Given the description of an element on the screen output the (x, y) to click on. 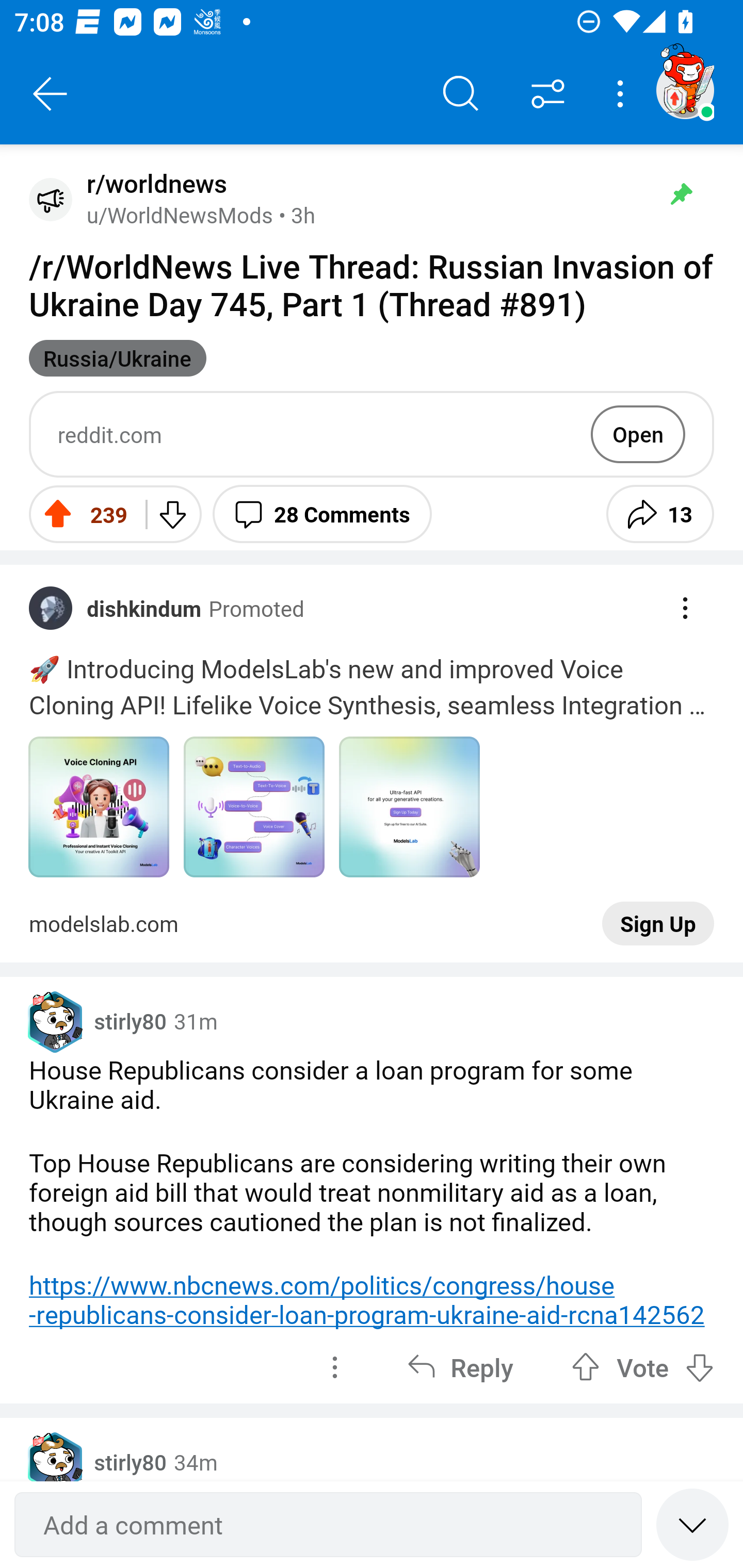
Back (50, 93)
TestAppium002 account (685, 90)
Search comments (460, 93)
Sort comments (547, 93)
More options (623, 93)
r/worldnews (153, 183)
Avatar (50, 199)
Pinned (681, 194)
Russia/Ukraine (117, 358)
reddit.com Open (371, 434)
Open (637, 434)
Downvote (171, 514)
28 Comments (321, 514)
Share 13 (660, 514)
Image 2 of 3.  (253, 807)
Image 3 of 3.  (408, 807)
options (334, 1367)
Reply (460, 1367)
Upvote Vote Downvote (642, 1367)
Speed read (692, 1524)
Add a comment (327, 1524)
